Given the description of an element on the screen output the (x, y) to click on. 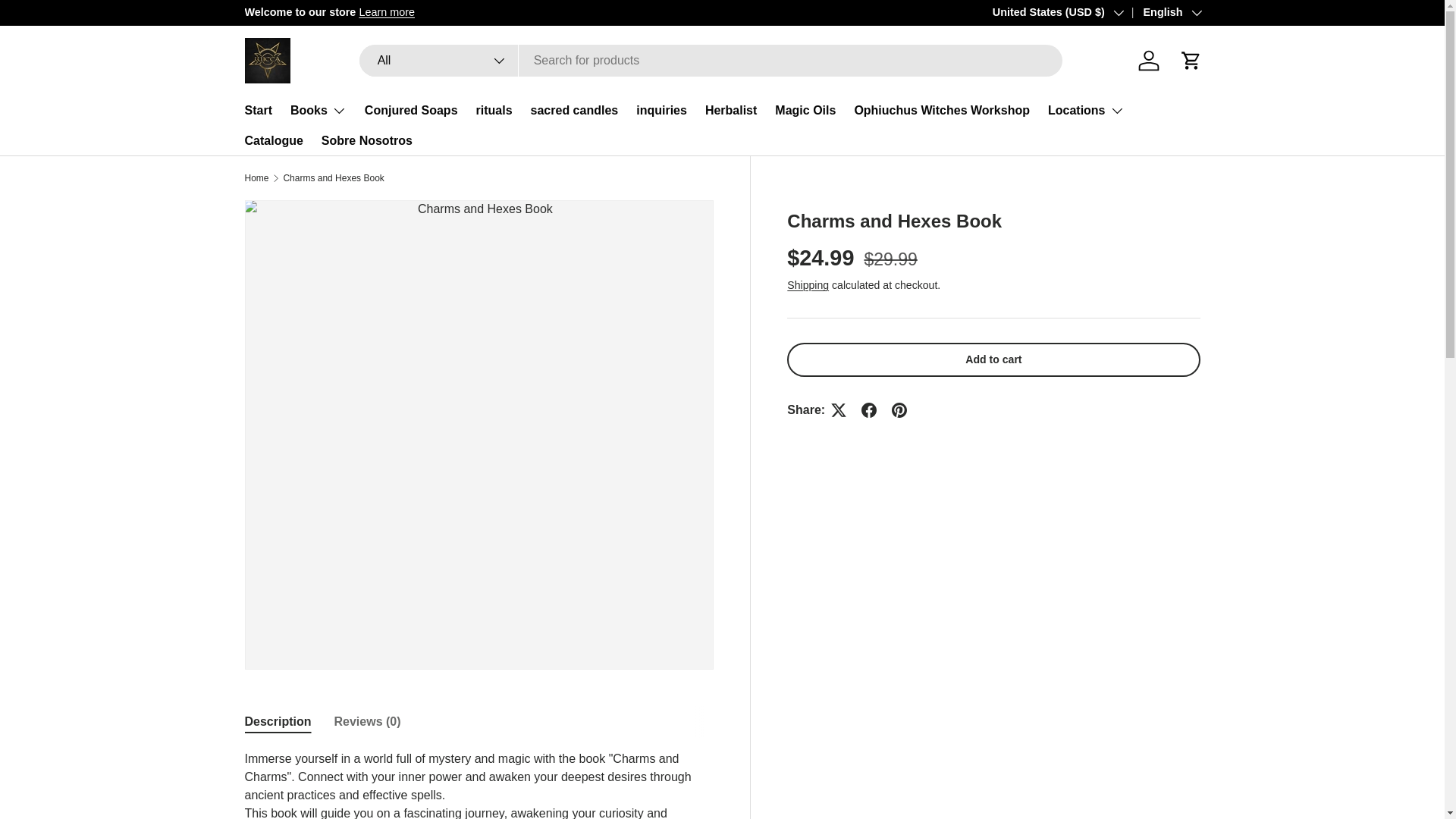
Log in (1147, 60)
Herbalist (730, 110)
Locations (1086, 110)
Sobre Nosotros (366, 140)
Conjured Soaps (411, 110)
Learn more (1137, 11)
Pin on Pinterest (898, 409)
Learn more (386, 11)
rituals (494, 110)
Share on Facebook (868, 409)
